Given the description of an element on the screen output the (x, y) to click on. 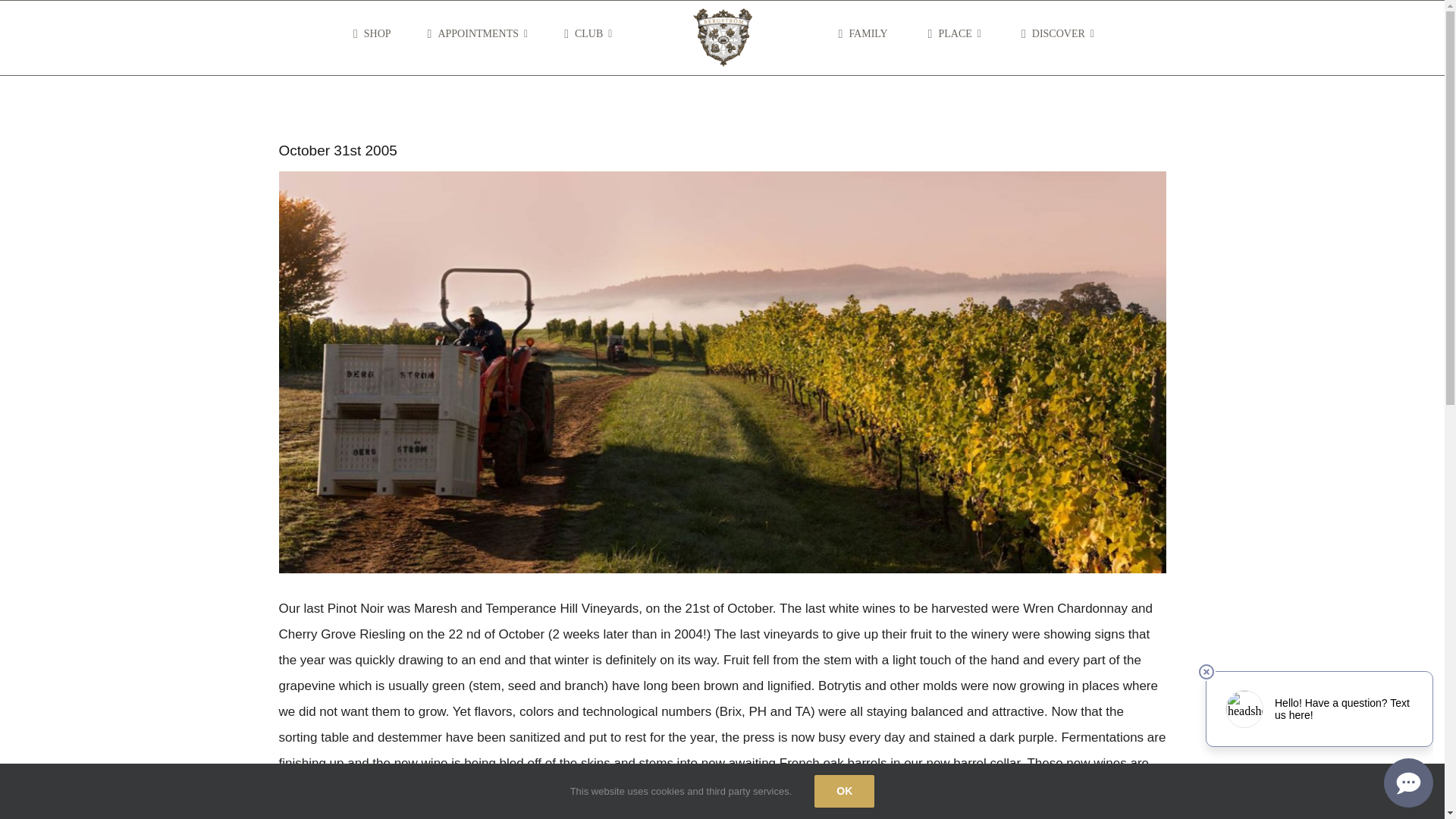
FAMILY (860, 34)
CLUB (584, 34)
PLACE (951, 34)
SHOP (369, 34)
DISCOVER (1054, 34)
APPOINTMENTS (475, 34)
